Given the description of an element on the screen output the (x, y) to click on. 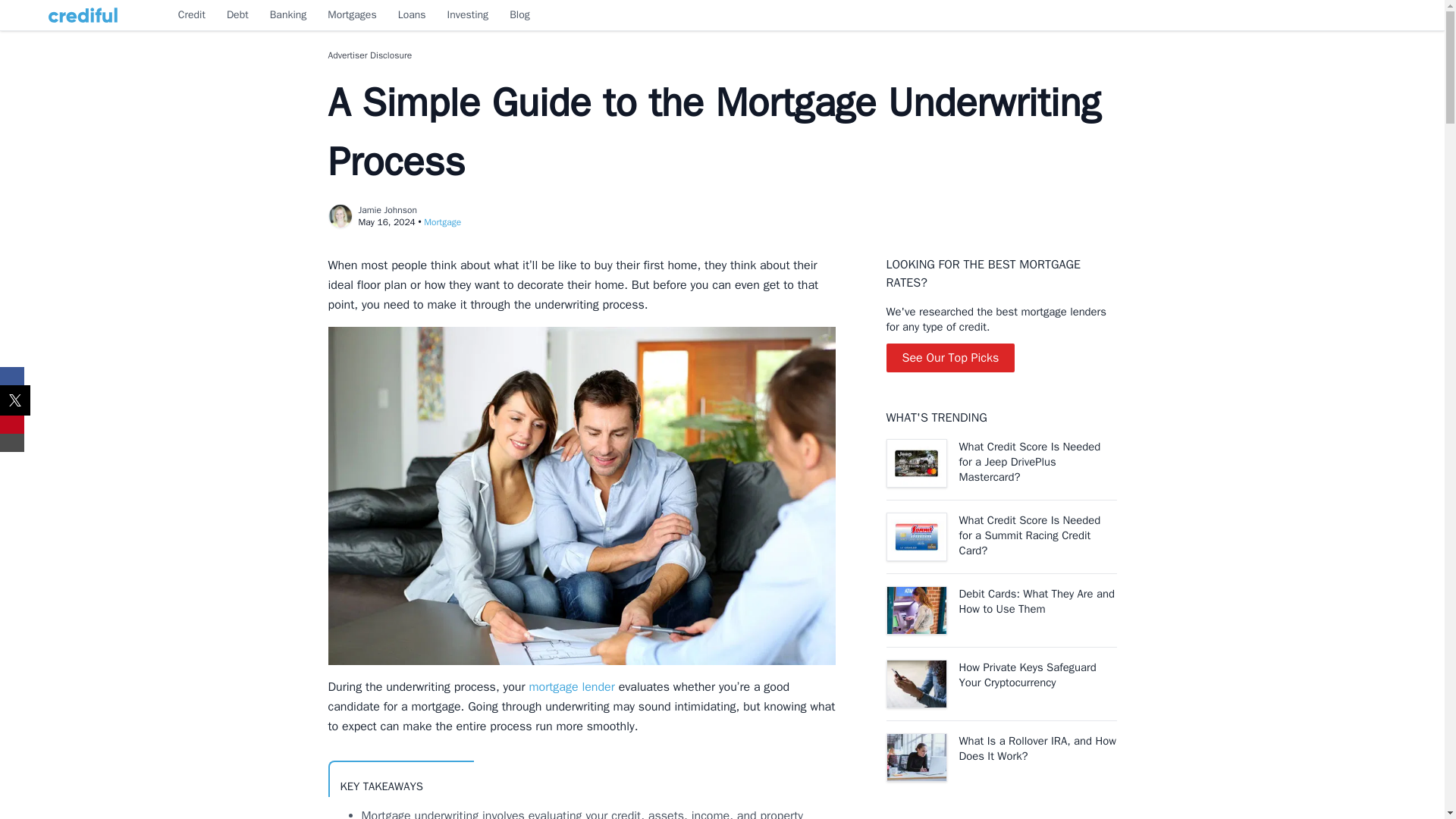
Banking (288, 15)
Debt (237, 15)
Credit (191, 15)
